Given the description of an element on the screen output the (x, y) to click on. 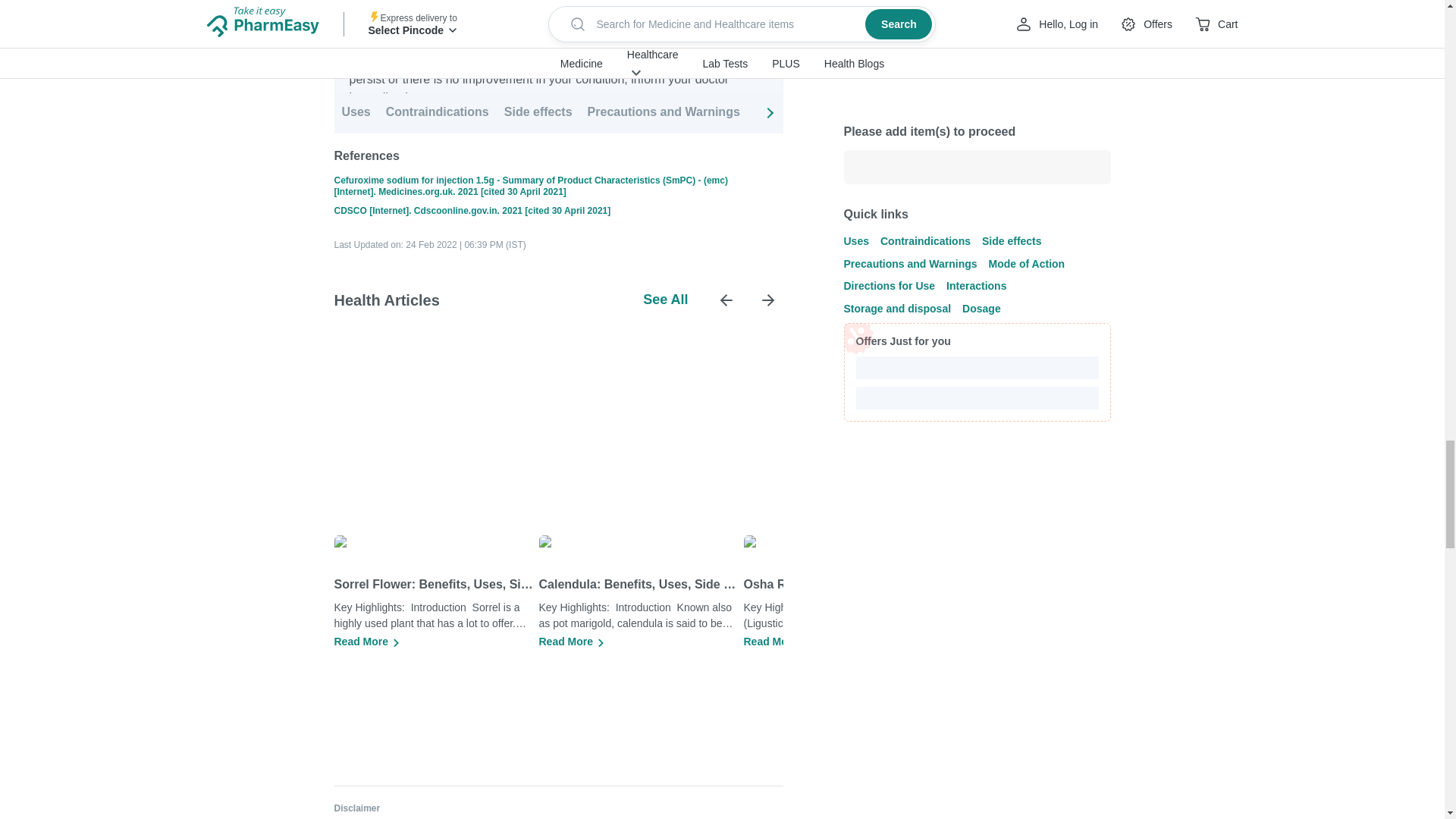
See All (665, 299)
